Given the description of an element on the screen output the (x, y) to click on. 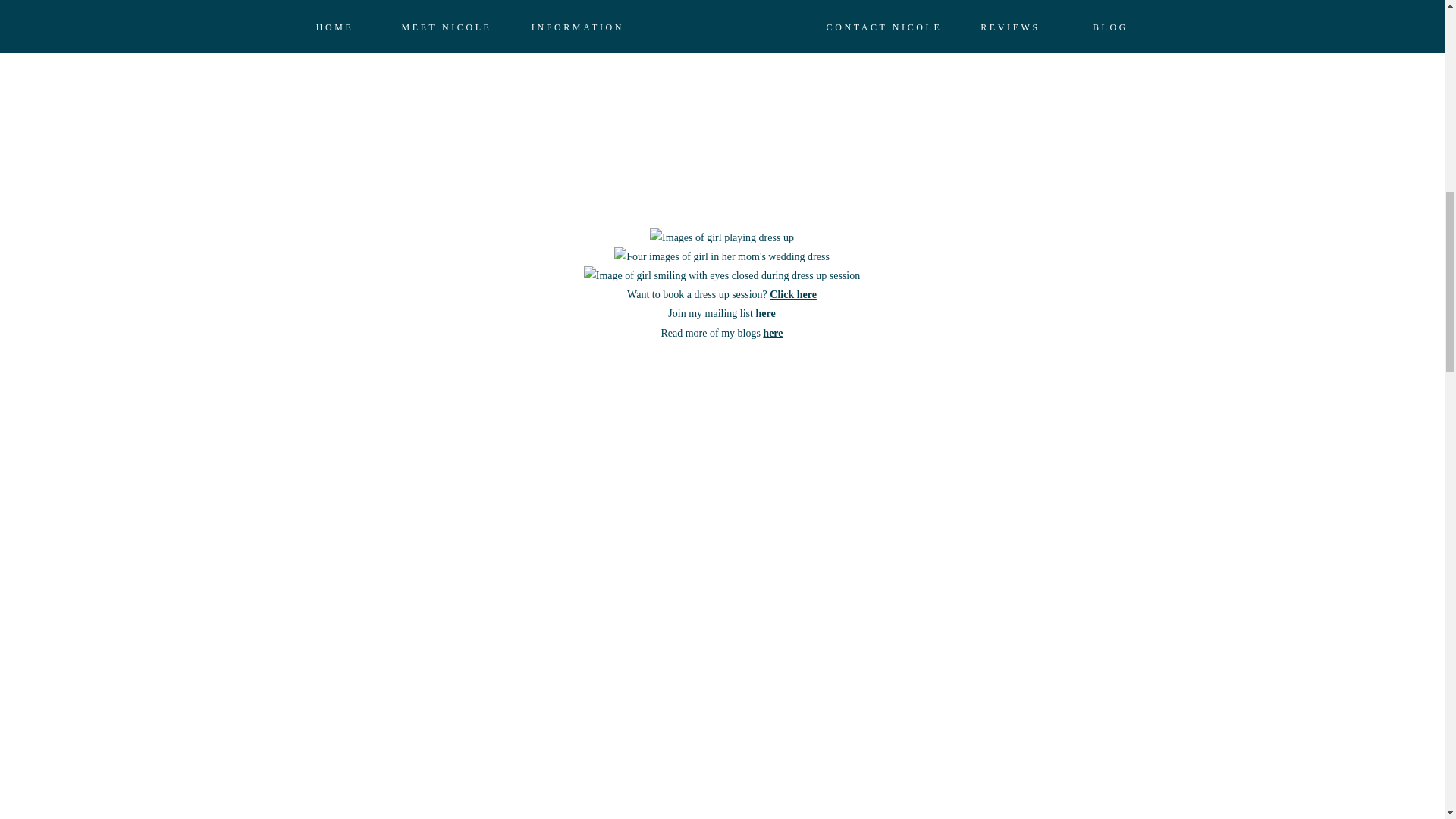
here (764, 313)
here (772, 333)
Click here (793, 294)
